Given the description of an element on the screen output the (x, y) to click on. 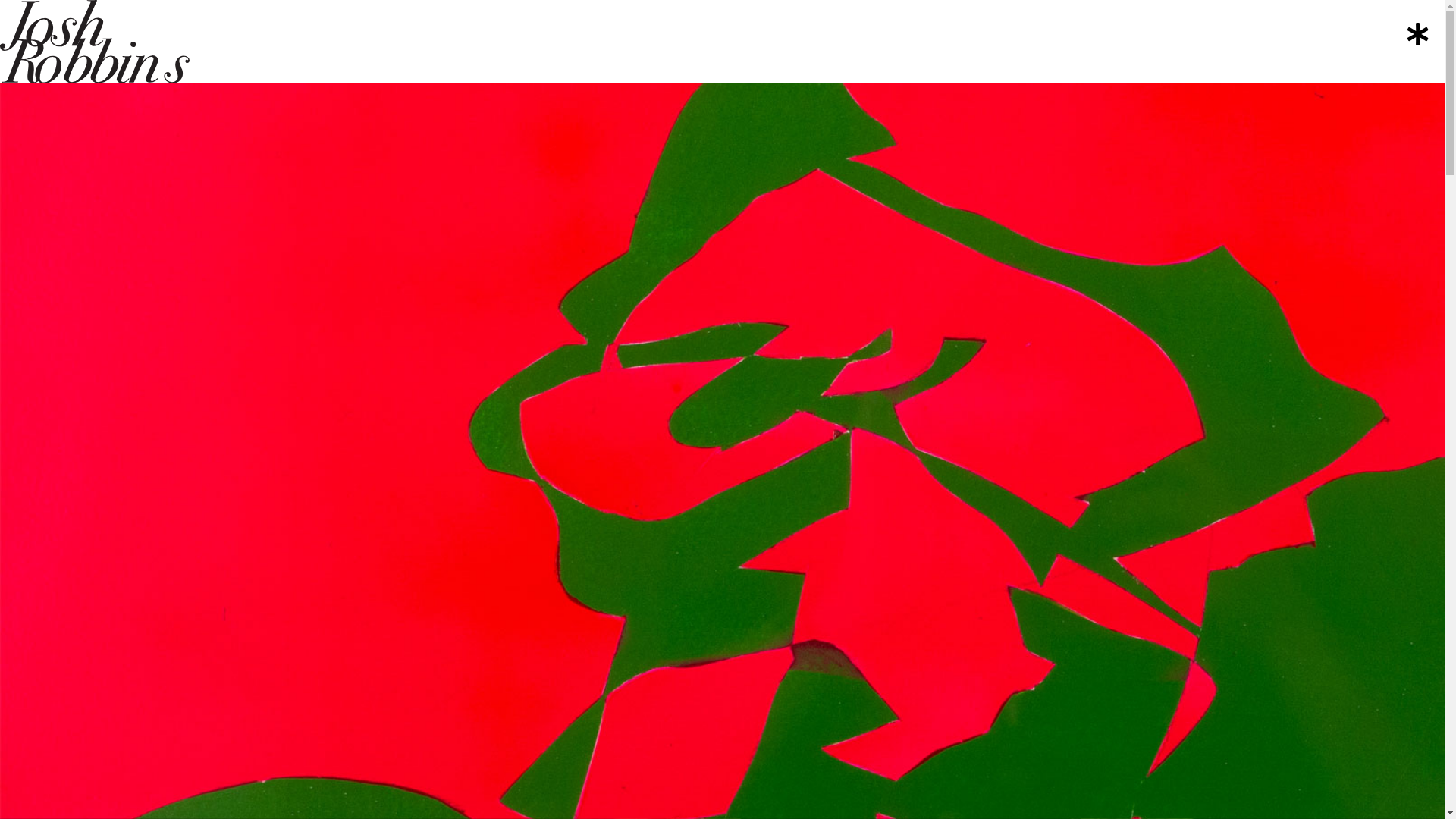
josh-robbins Element type: hover (94, 41)
